Given the description of an element on the screen output the (x, y) to click on. 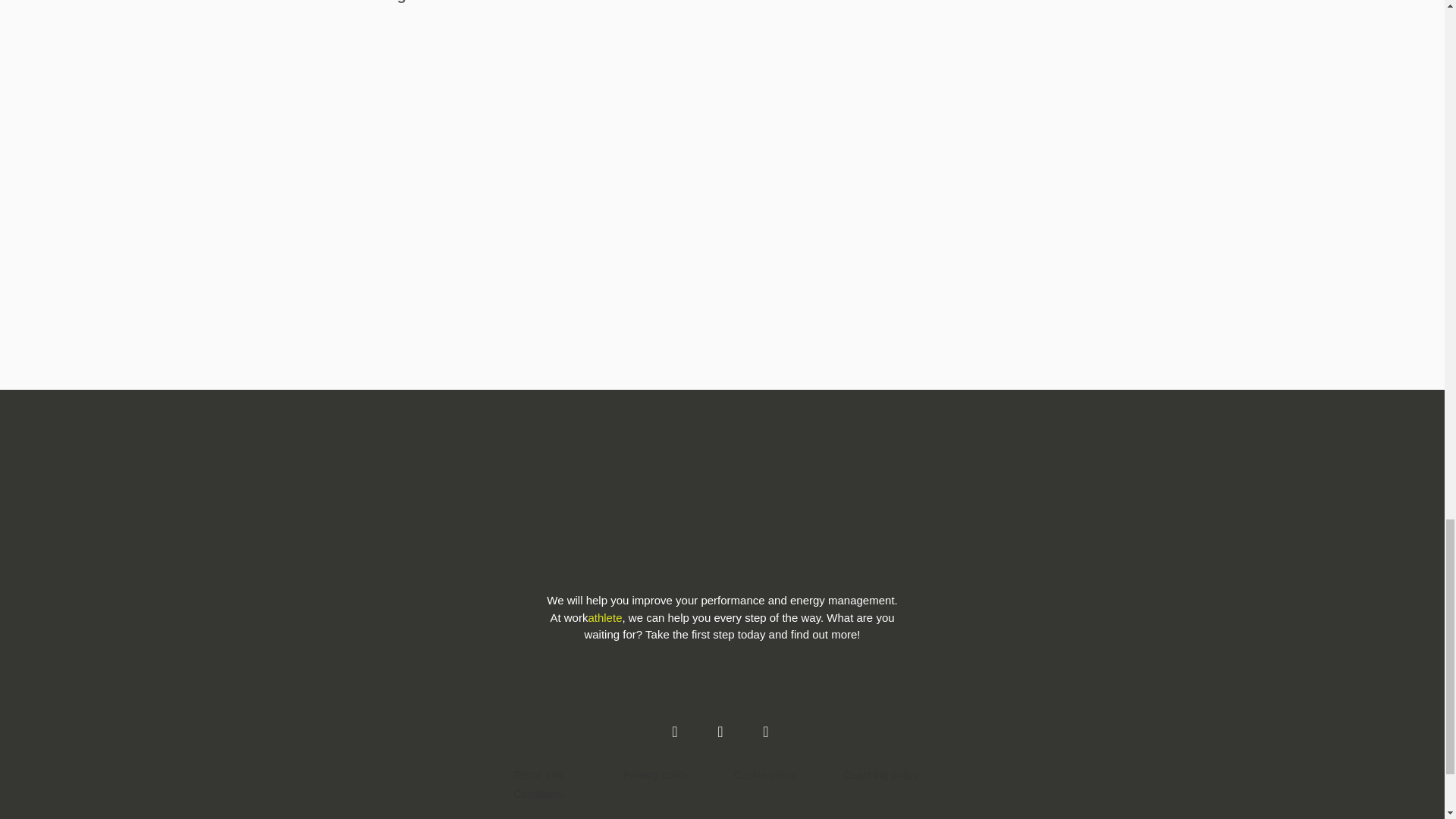
Privacy policy (656, 774)
Cookie policy (765, 774)
Coaching policy (881, 774)
Terms and Conditions (556, 783)
